Given the description of an element on the screen output the (x, y) to click on. 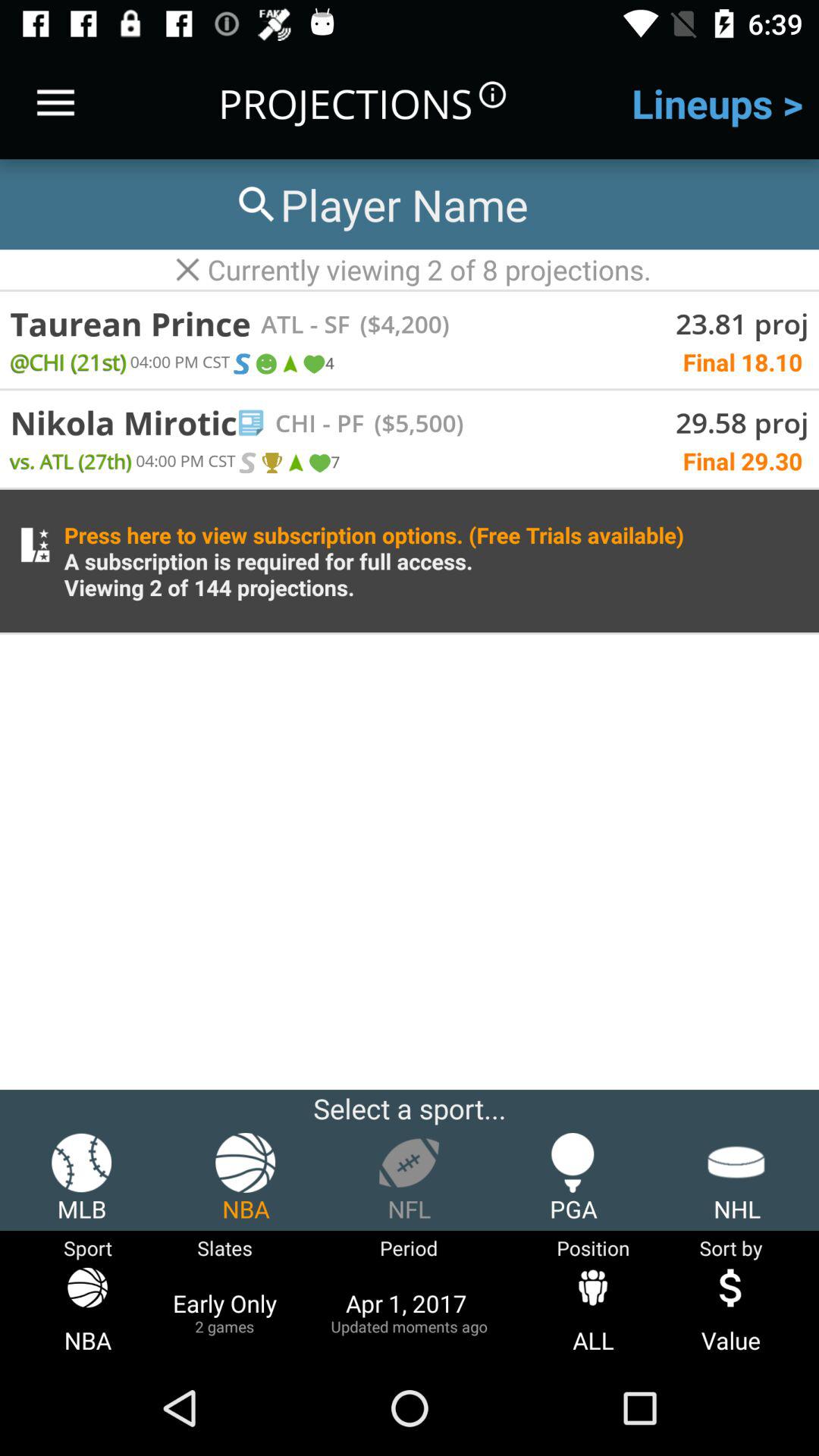
launch the icon below final 29.30 (374, 560)
